Given the description of an element on the screen output the (x, y) to click on. 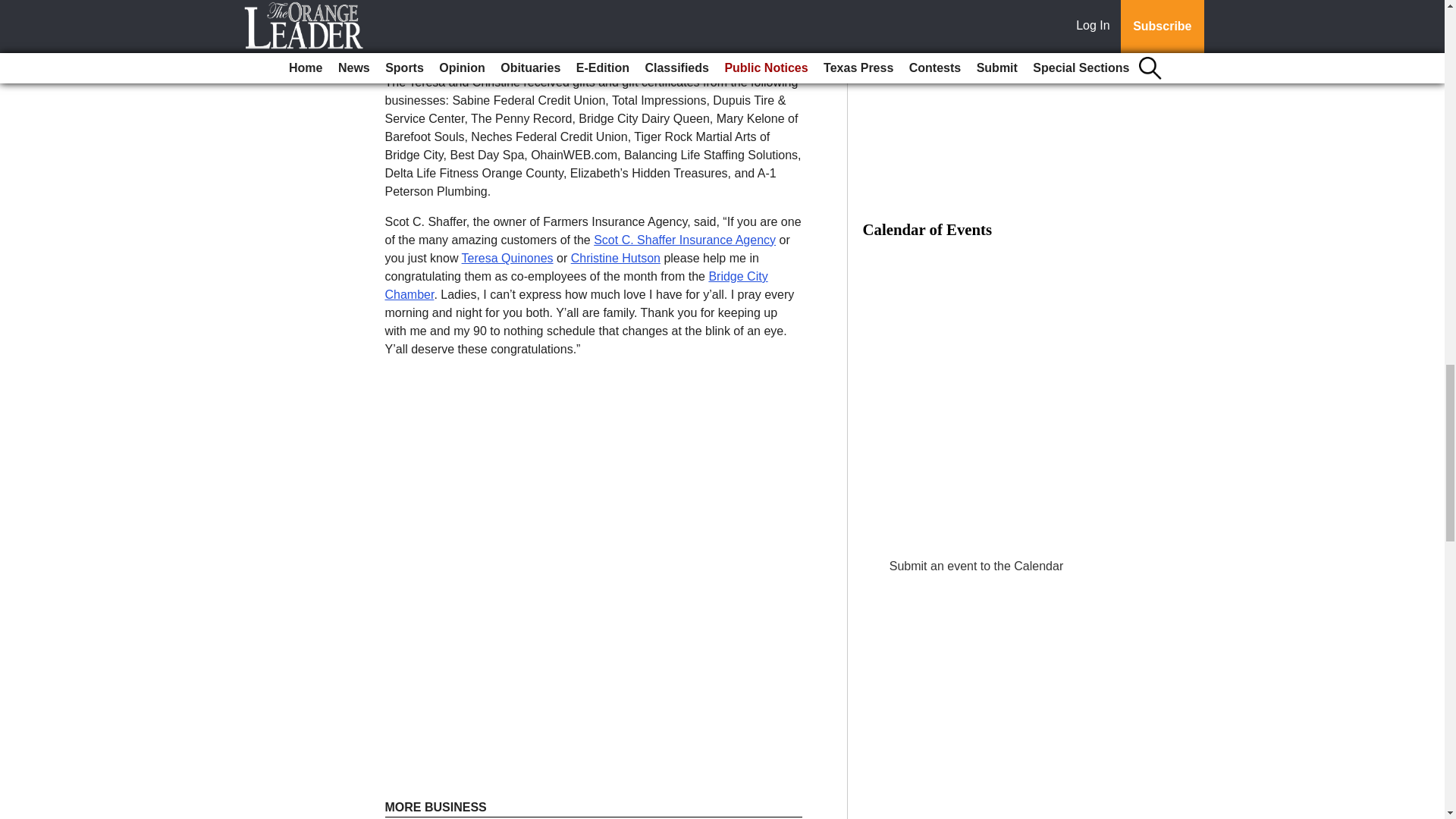
Christine Hutson (615, 257)
Subscribe (434, 32)
Subscribe (434, 32)
Bridge City Chamber (576, 285)
Teresa Quinones (507, 257)
Scot C. Shaffer Insurance Agency (685, 239)
